Given the description of an element on the screen output the (x, y) to click on. 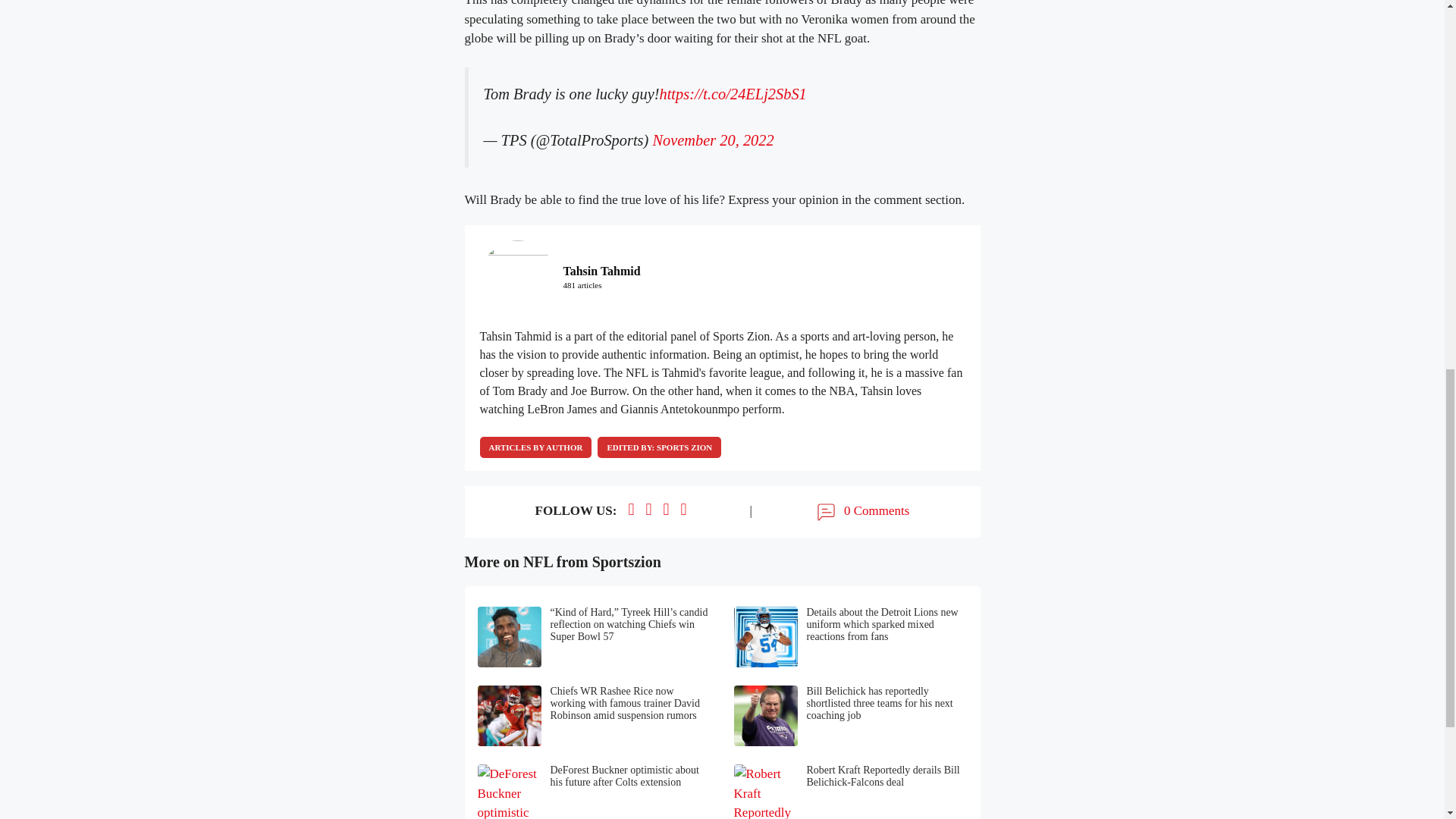
EDITED BY: SPORTS ZION (658, 446)
ARTICLES BY AUTHOR (535, 446)
November 20, 2022 (712, 139)
Robert Kraft Reportedly derails Bill Belichick-Falcons deal (850, 791)
0 Comments (861, 511)
